Given the description of an element on the screen output the (x, y) to click on. 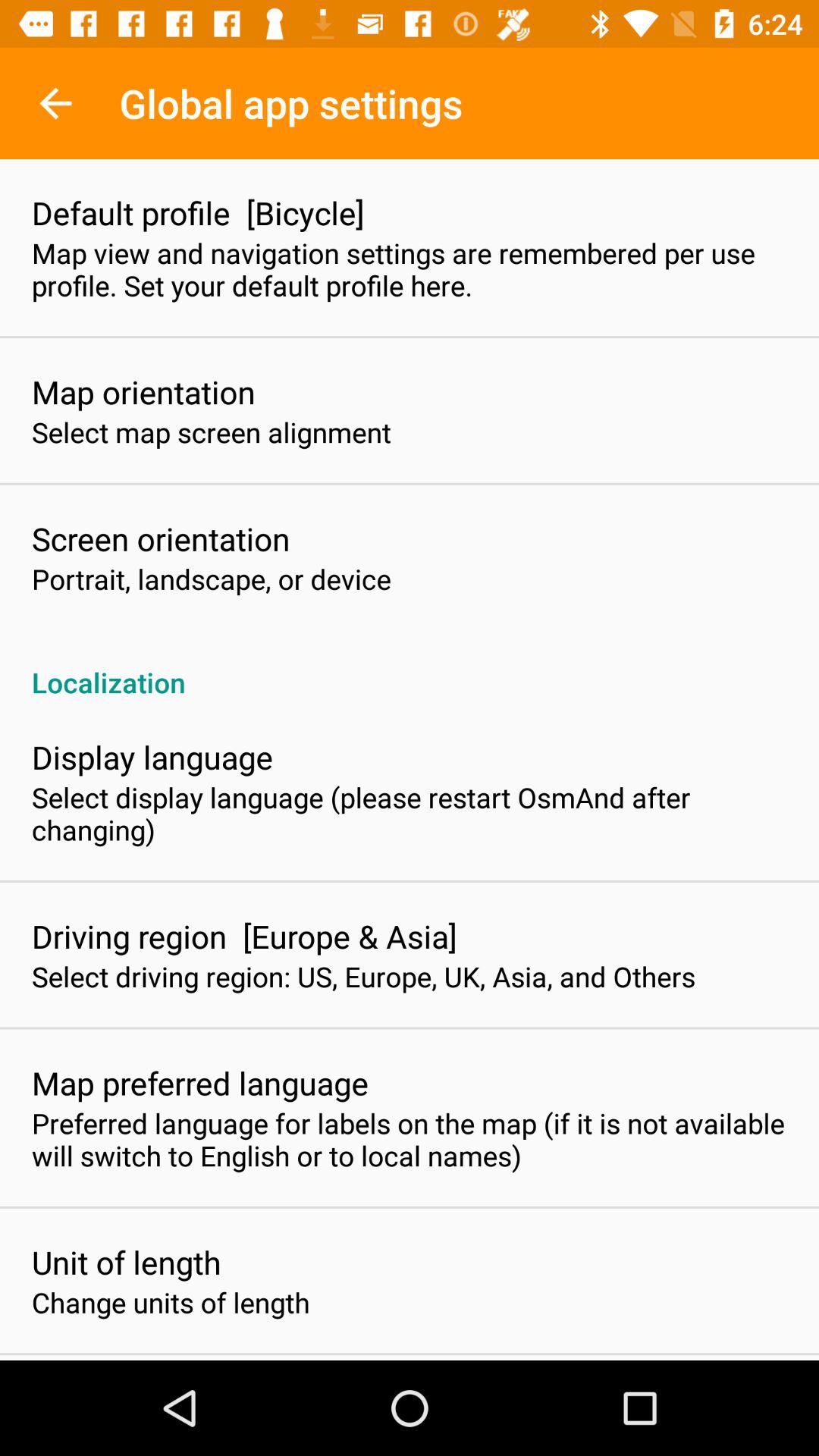
scroll until map view and (409, 269)
